Given the description of an element on the screen output the (x, y) to click on. 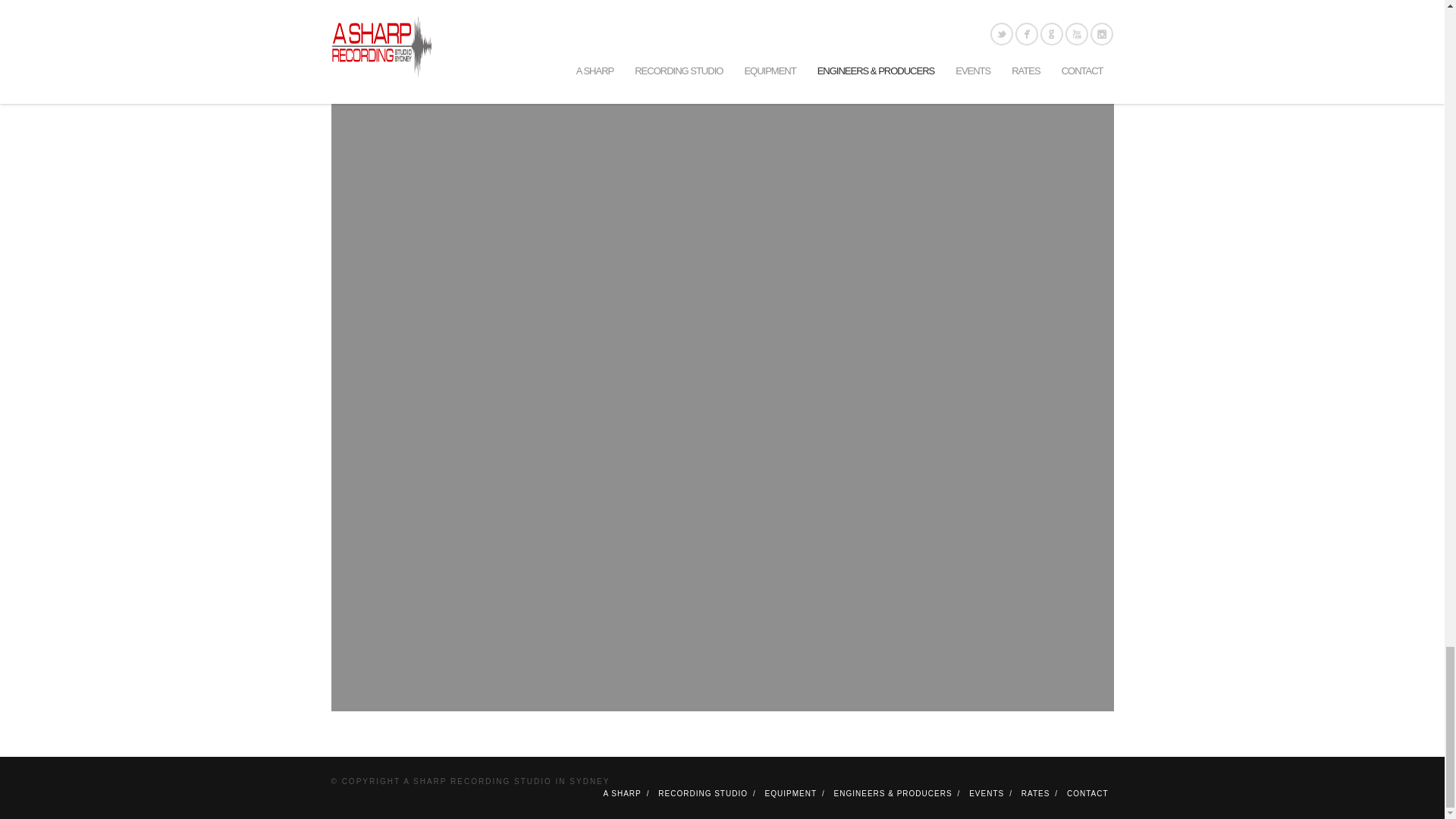
RATES (1035, 793)
EQUIPMENT (790, 793)
EVENTS (986, 793)
RECORDING STUDIO (703, 793)
A SHARP (621, 793)
CONTACT (1087, 793)
